Given the description of an element on the screen output the (x, y) to click on. 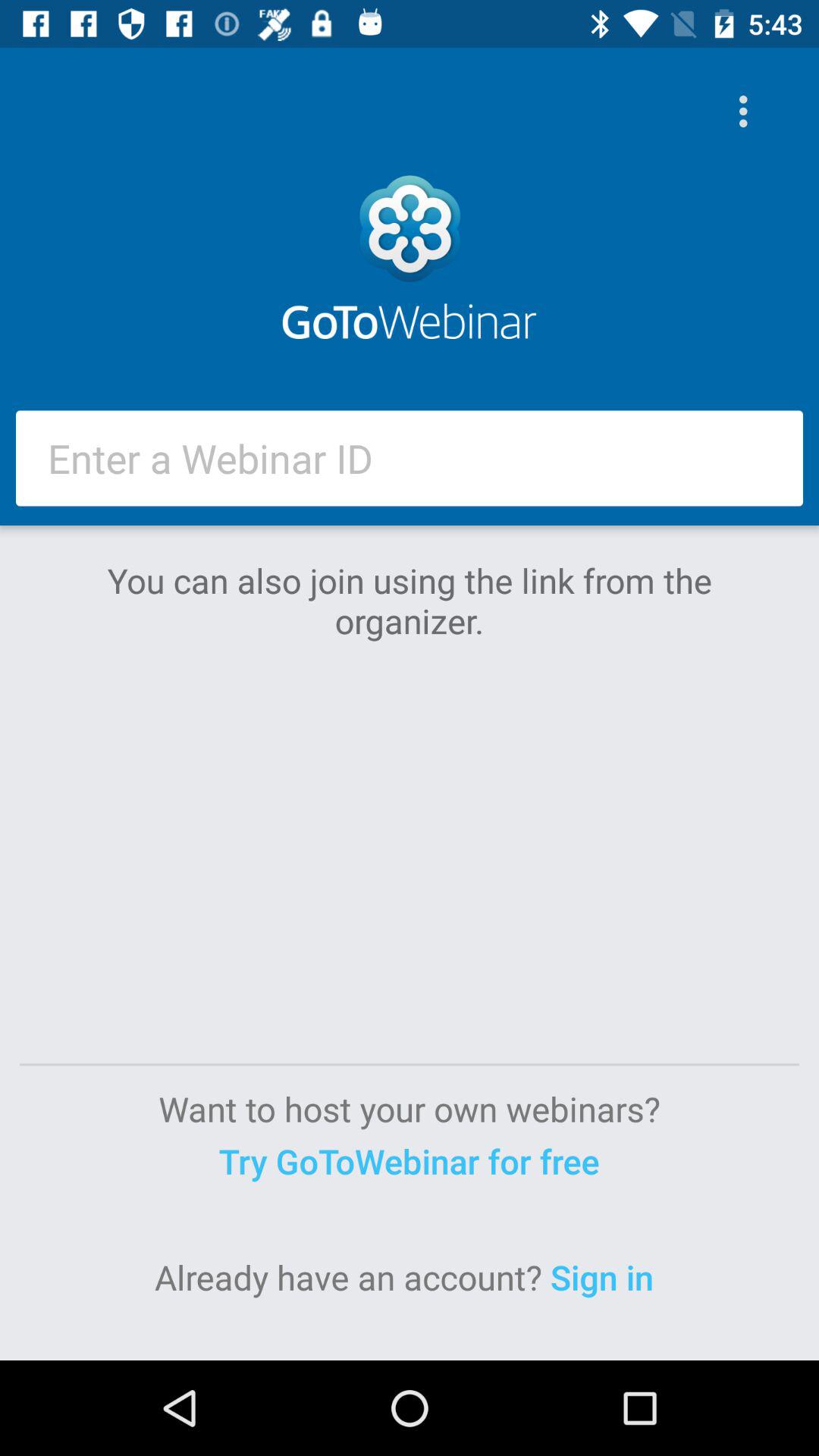
turn on the sign in item (606, 1276)
